Given the description of an element on the screen output the (x, y) to click on. 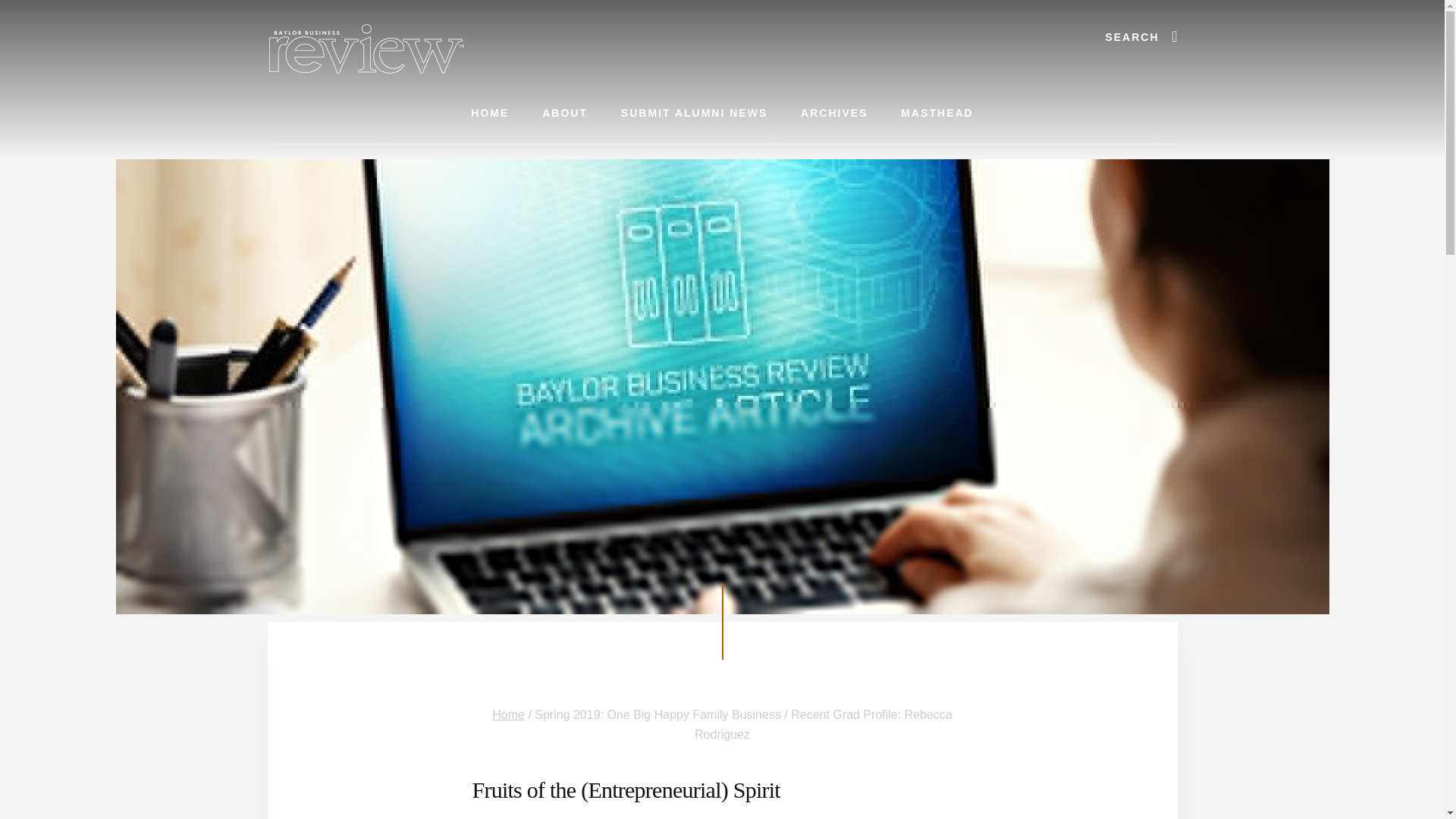
Home (508, 714)
MASTHEAD (936, 113)
ABOUT (564, 113)
HOME (489, 113)
SUBMIT ALUMNI NEWS (694, 113)
ARCHIVES (834, 113)
